Given the description of an element on the screen output the (x, y) to click on. 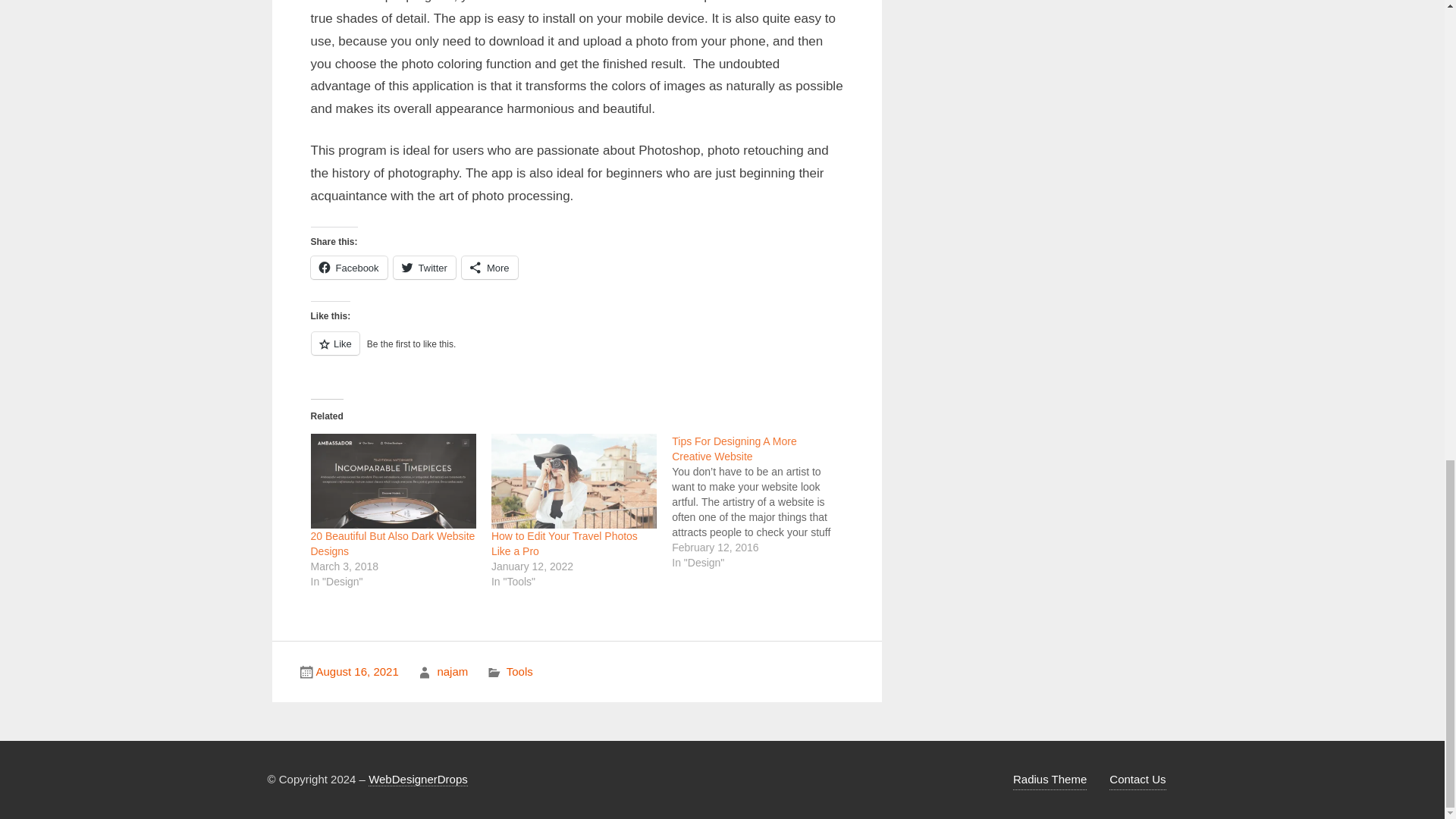
August 16, 2021 (356, 671)
Facebook (349, 267)
Click to share on Facebook (349, 267)
Tips For Designing A More Creative Website (761, 502)
8:52 pm (356, 671)
How to Edit Your Travel Photos Like a Pro (564, 543)
Click to share on Twitter (424, 267)
More (489, 267)
Like or Reblog (577, 352)
Tips For Designing A More Creative Website (733, 448)
View all posts by najam (451, 671)
20 Beautiful But Also Dark Website Designs (393, 543)
Tools (519, 671)
Tips For Designing A More Creative Website (733, 448)
Twitter (424, 267)
